Given the description of an element on the screen output the (x, y) to click on. 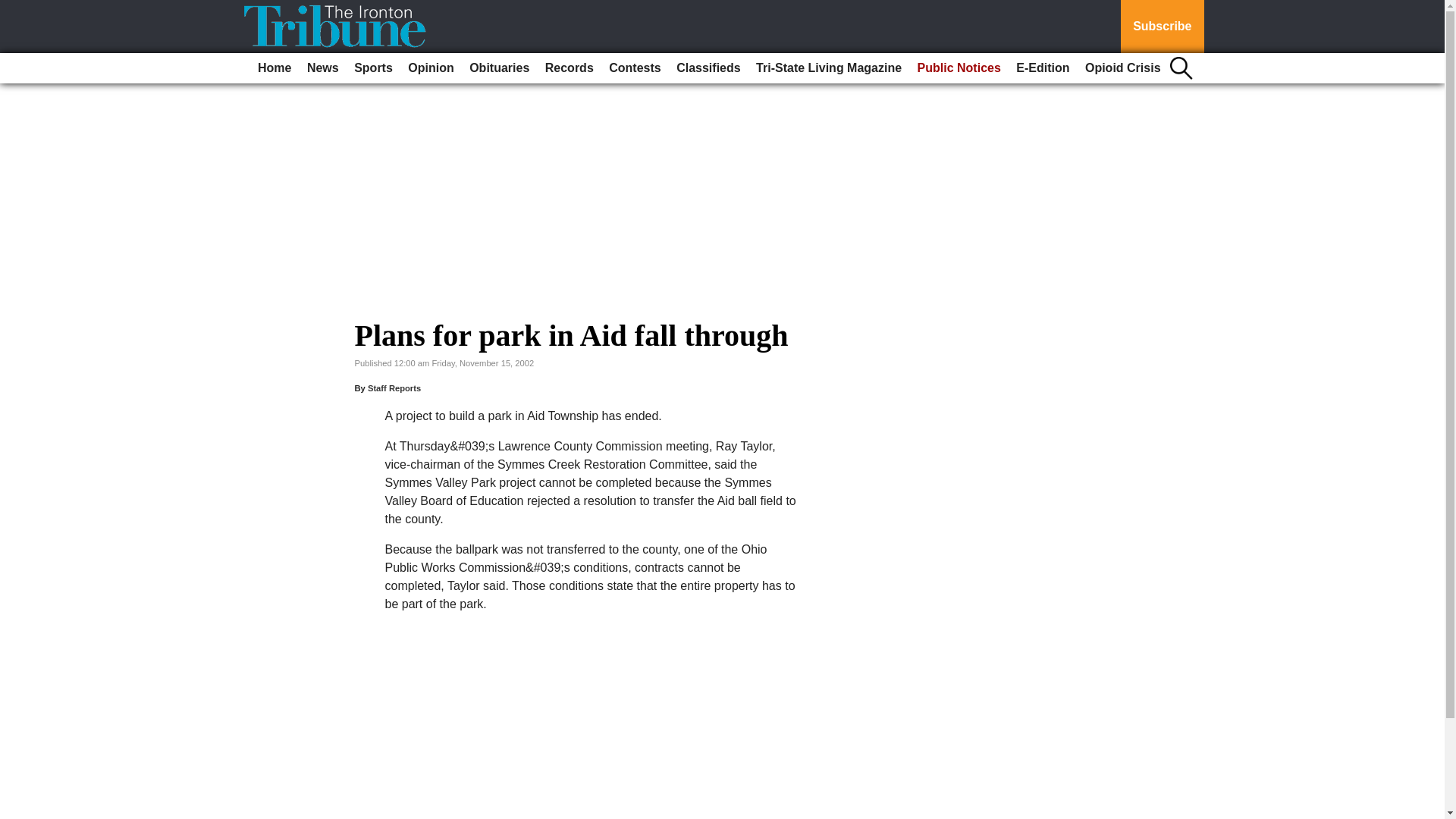
E-Edition (1042, 68)
Public Notices (959, 68)
Tri-State Living Magazine (828, 68)
Go (13, 9)
Classifieds (707, 68)
Obituaries (499, 68)
Opinion (430, 68)
Records (568, 68)
Staff Reports (394, 388)
Sports (372, 68)
